Given the description of an element on the screen output the (x, y) to click on. 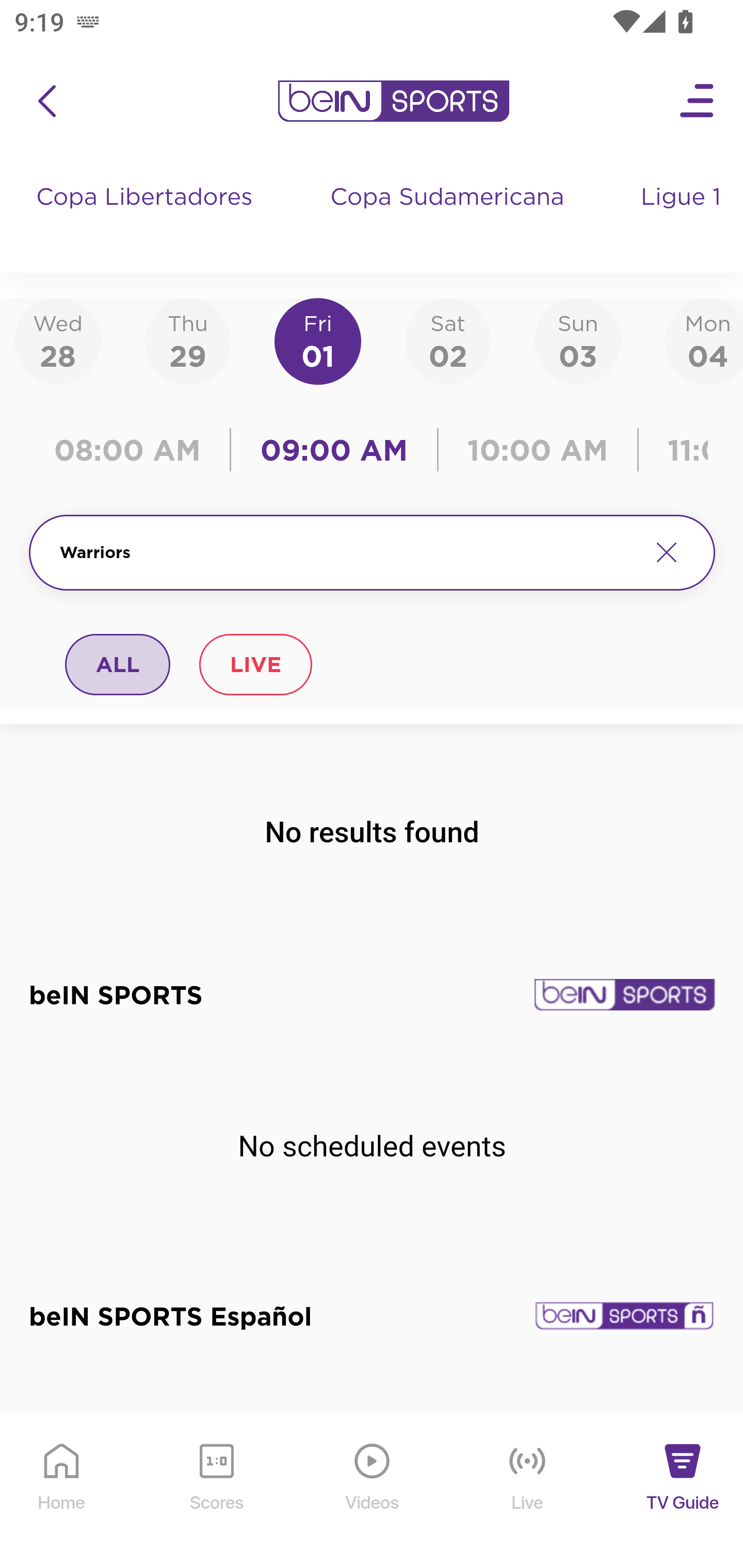
en-us?platform=mobile_android bein logo (392, 101)
icon back (46, 101)
Open Menu Icon (697, 101)
Copa Libertadores (146, 216)
Copa Sudamericana (448, 216)
Ligue 1 (682, 216)
Wed28 (58, 340)
Thu29 (187, 340)
Fri01 (318, 340)
Sat02 (447, 340)
Sun03 (578, 340)
Mon04 (703, 340)
08:00 AM (134, 449)
09:00 AM (334, 449)
10:00 AM (537, 449)
Warriors (346, 552)
ALL (118, 663)
LIVE (255, 663)
Home Home Icon Home (61, 1491)
Scores Scores Icon Scores (216, 1491)
Videos Videos Icon Videos (372, 1491)
TV Guide TV Guide Icon TV Guide (682, 1491)
